Given the description of an element on the screen output the (x, y) to click on. 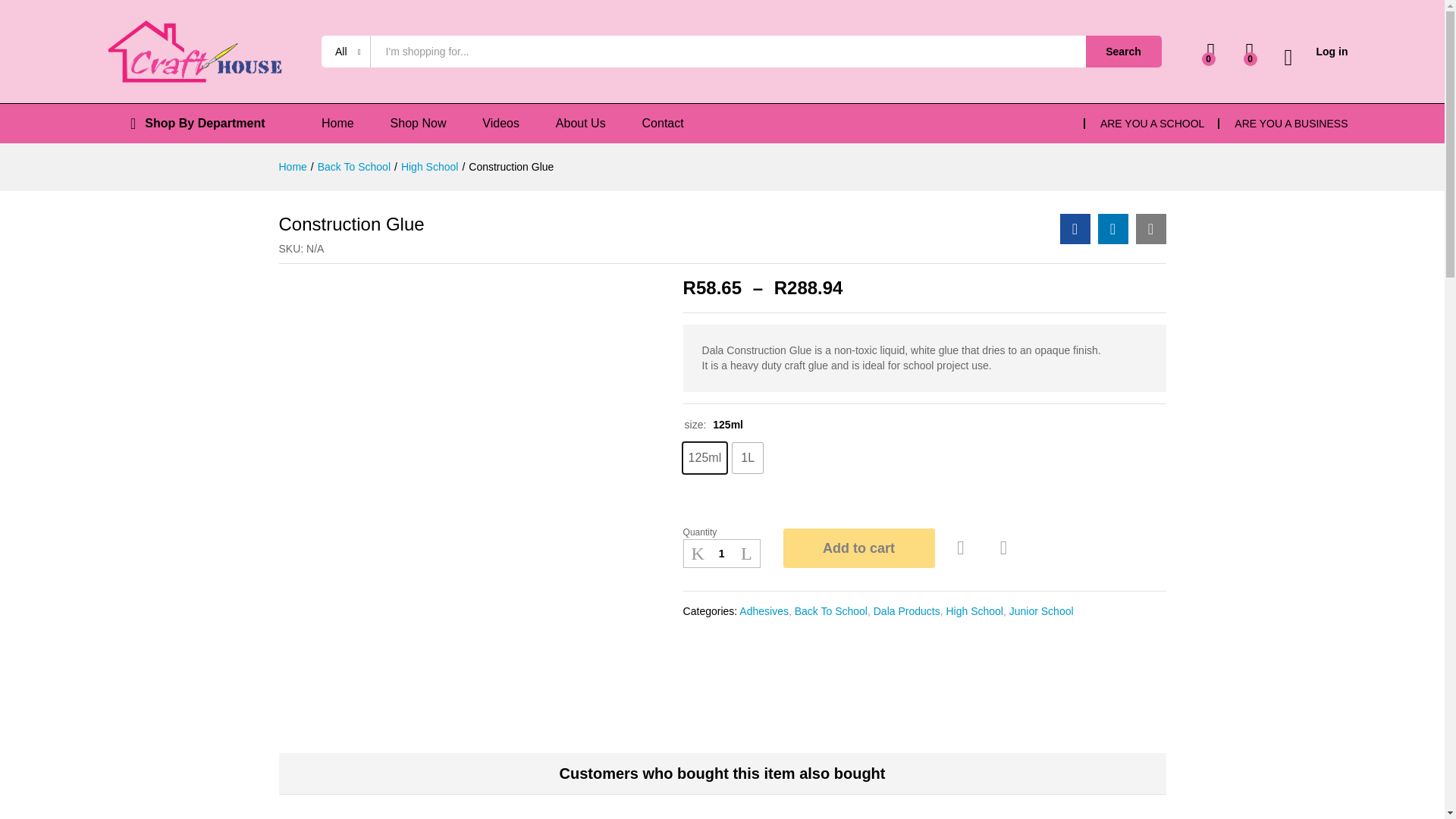
Add to wishlist (962, 548)
1L (747, 458)
1 (721, 553)
Construction Glue (1150, 228)
Compare (1003, 548)
Construction Glue (1074, 228)
Qty (721, 553)
125ml (704, 458)
